Given the description of an element on the screen output the (x, y) to click on. 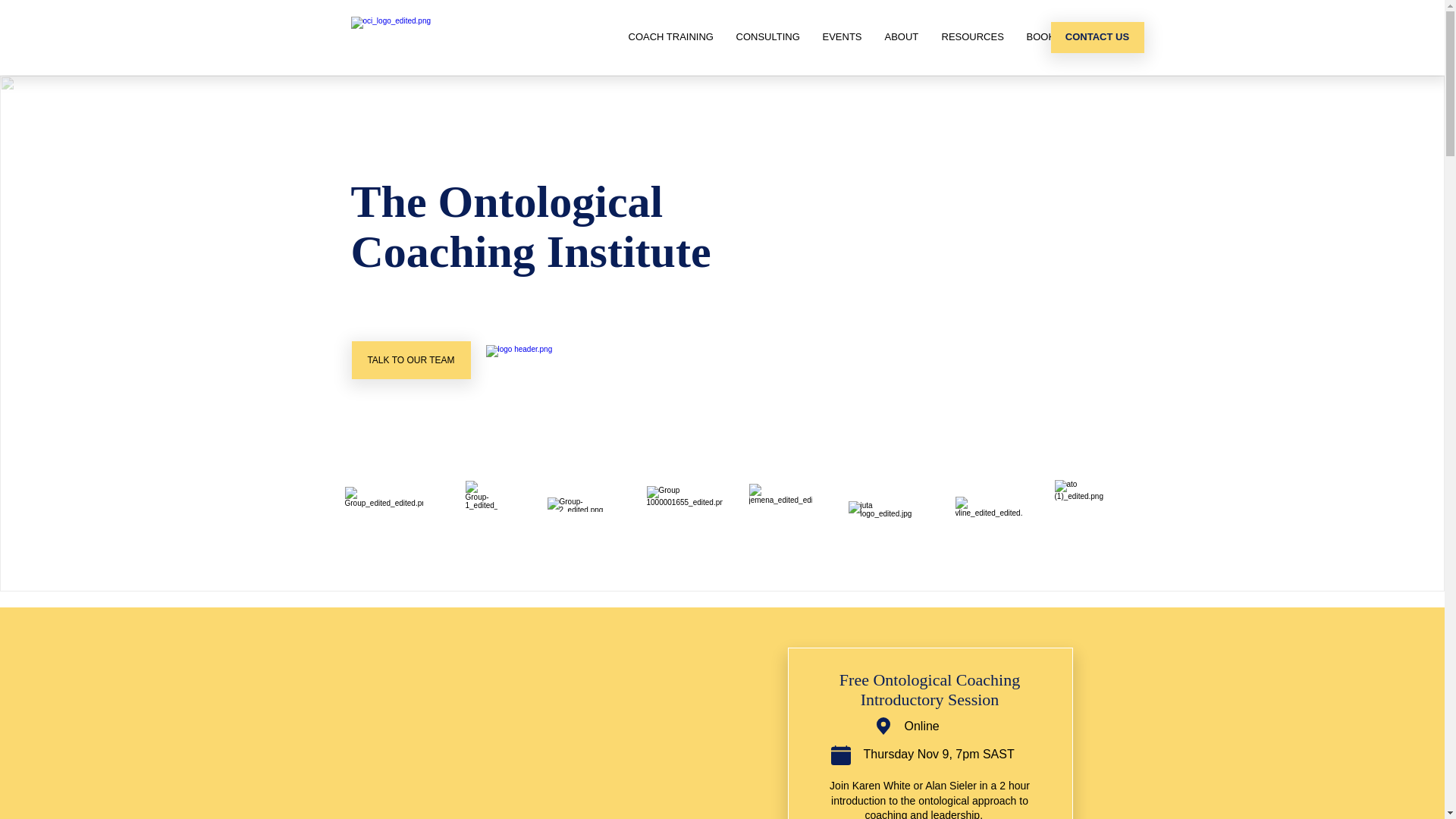
Group-2.png Element type: hover (585, 504)
CONTACT US Element type: text (1097, 37)
TALK TO OUR TEAM Element type: text (410, 360)
Group 1000001655.png Element type: hover (683, 505)
RESOURCES Element type: text (971, 37)
Group.png Element type: hover (383, 498)
Group-1.png Element type: hover (481, 499)
BOOKS Element type: text (1043, 37)
CONSULTING Element type: text (767, 37)
COACH TRAINING Element type: text (670, 37)
EVENTS Element type: text (842, 37)
logo header.png Element type: hover (533, 360)
ABOUT Element type: text (901, 37)
logo header.png Element type: hover (438, 37)
